Given the description of an element on the screen output the (x, y) to click on. 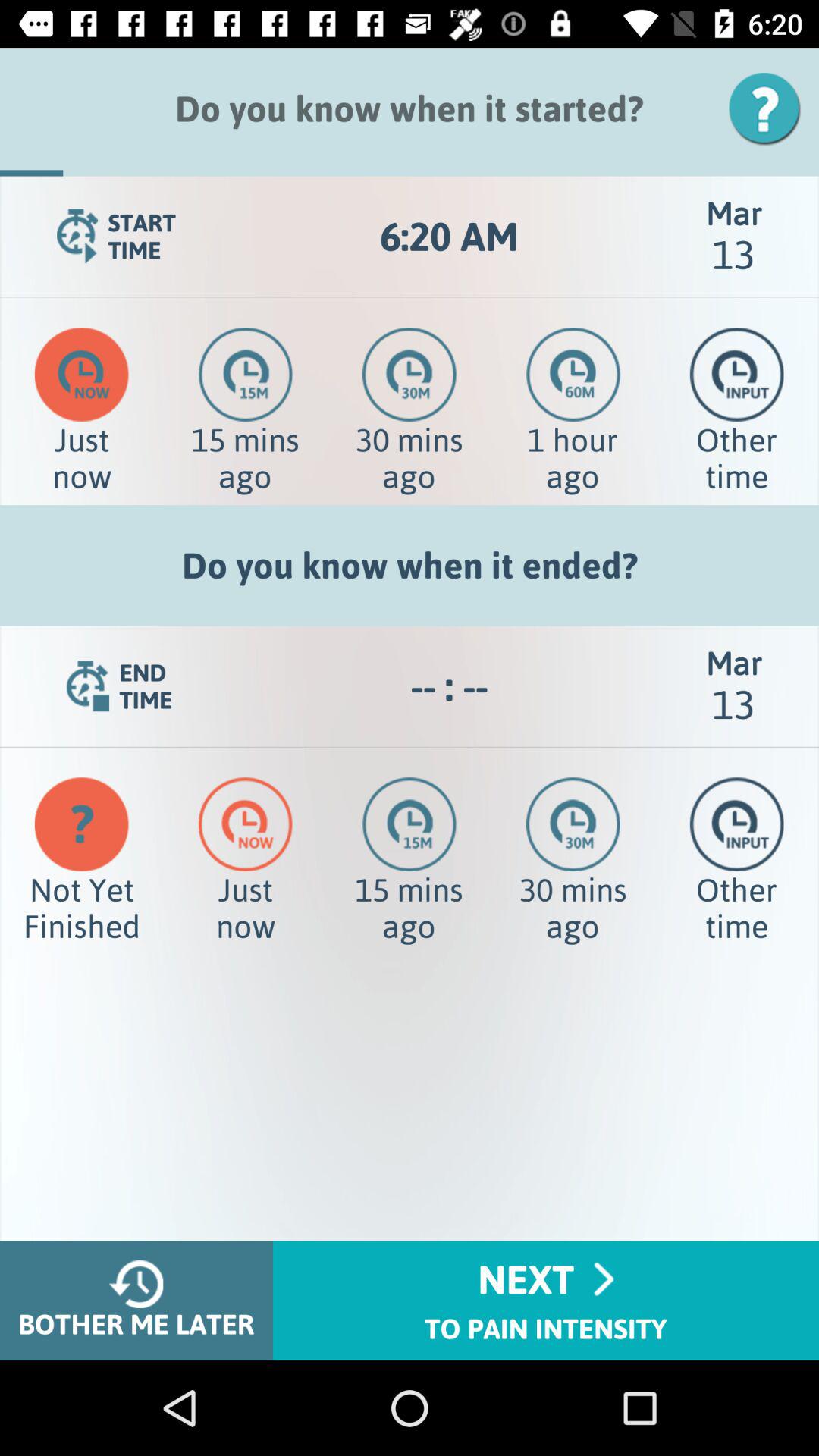
a help button (769, 108)
